Given the description of an element on the screen output the (x, y) to click on. 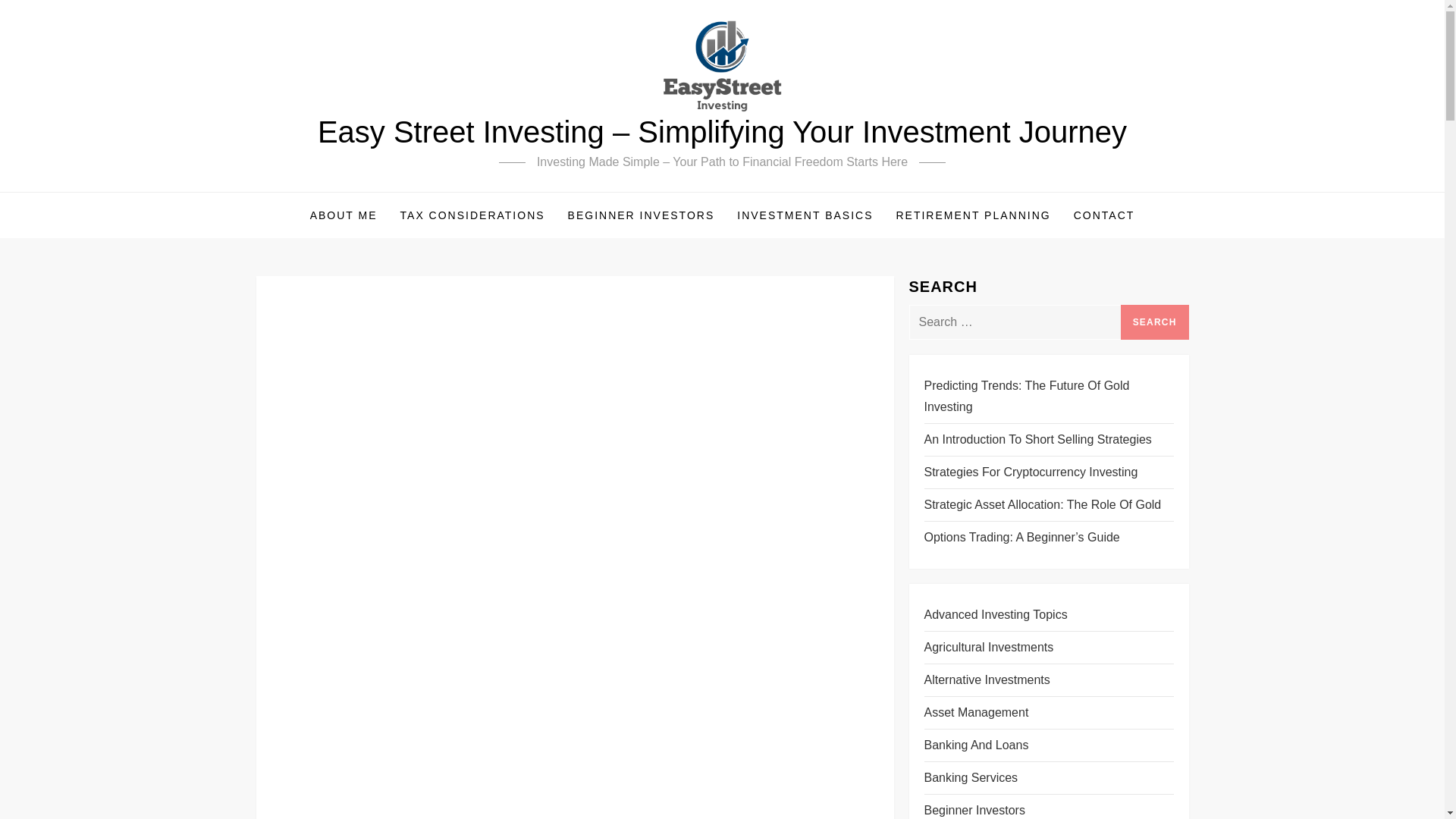
INVESTMENT BASICS (804, 215)
BEGINNER INVESTORS (641, 215)
Search (1155, 321)
TAX CONSIDERATIONS (472, 215)
ABOUT ME (343, 215)
Search (1155, 321)
RETIREMENT PLANNING (972, 215)
CONTACT (1104, 215)
